Given the description of an element on the screen output the (x, y) to click on. 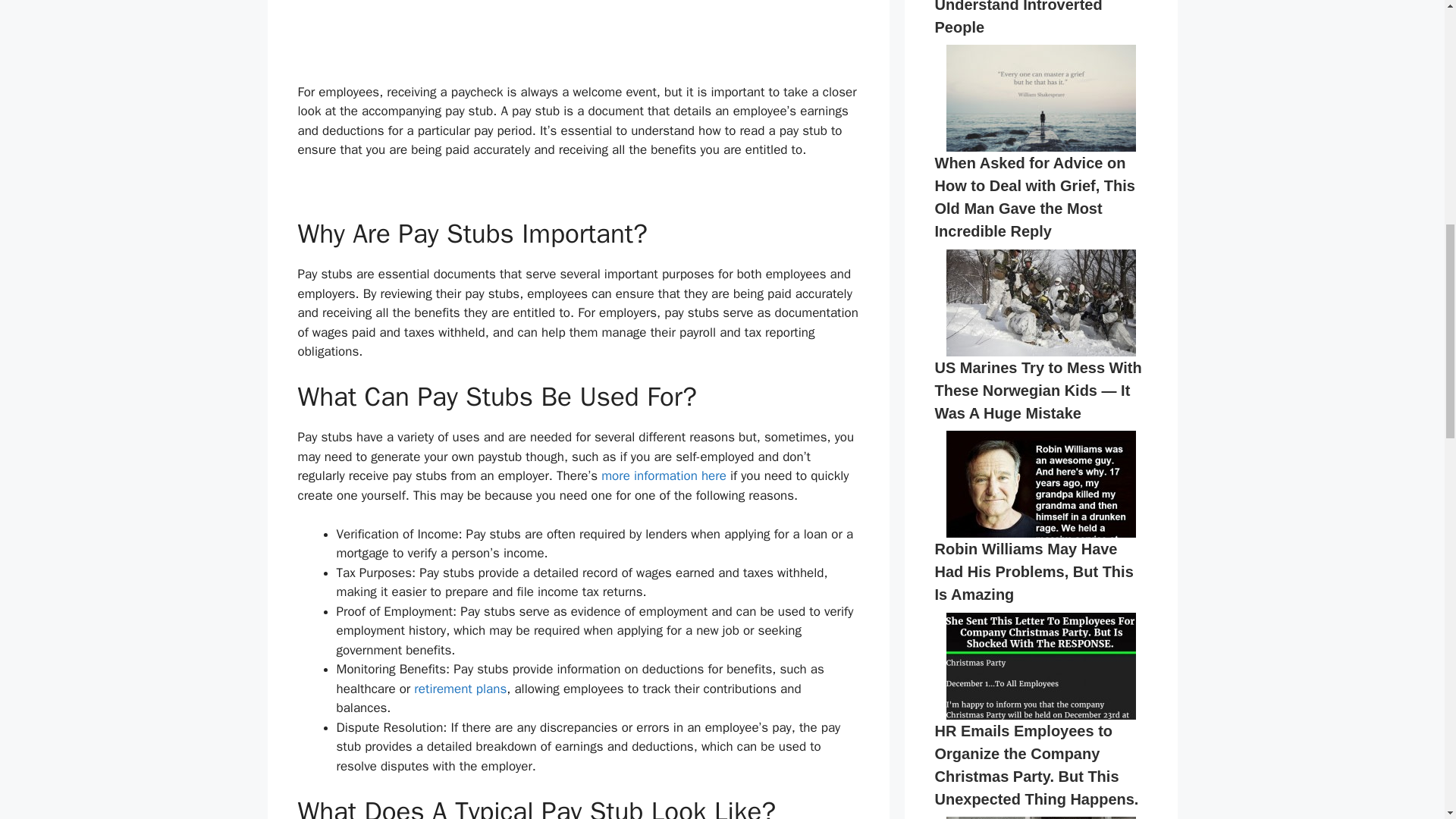
retirement plans (459, 688)
more information here (663, 475)
Advertisement (578, 41)
